Given the description of an element on the screen output the (x, y) to click on. 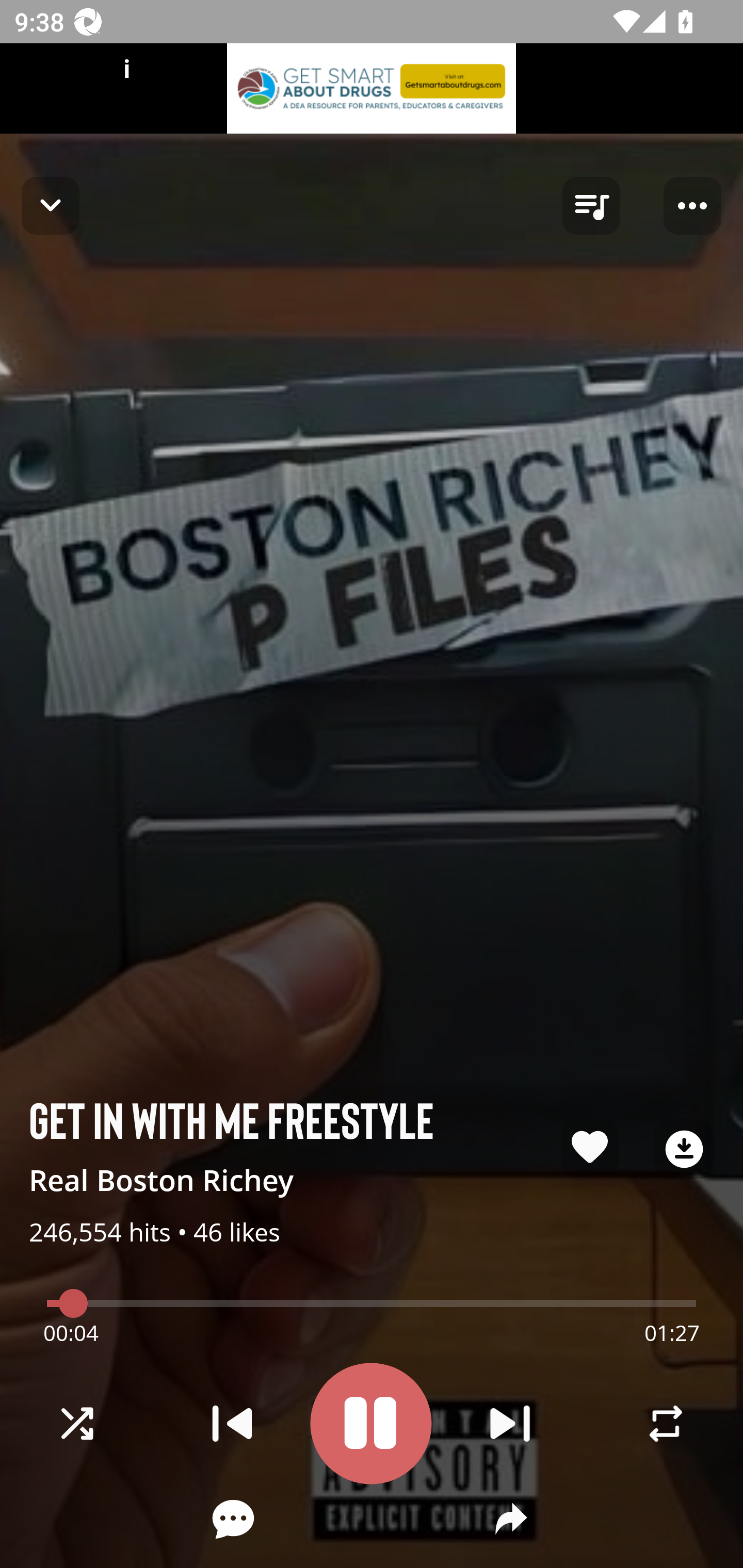
Navigate up (50, 205)
queue (590, 206)
Player options (692, 206)
